Given the description of an element on the screen output the (x, y) to click on. 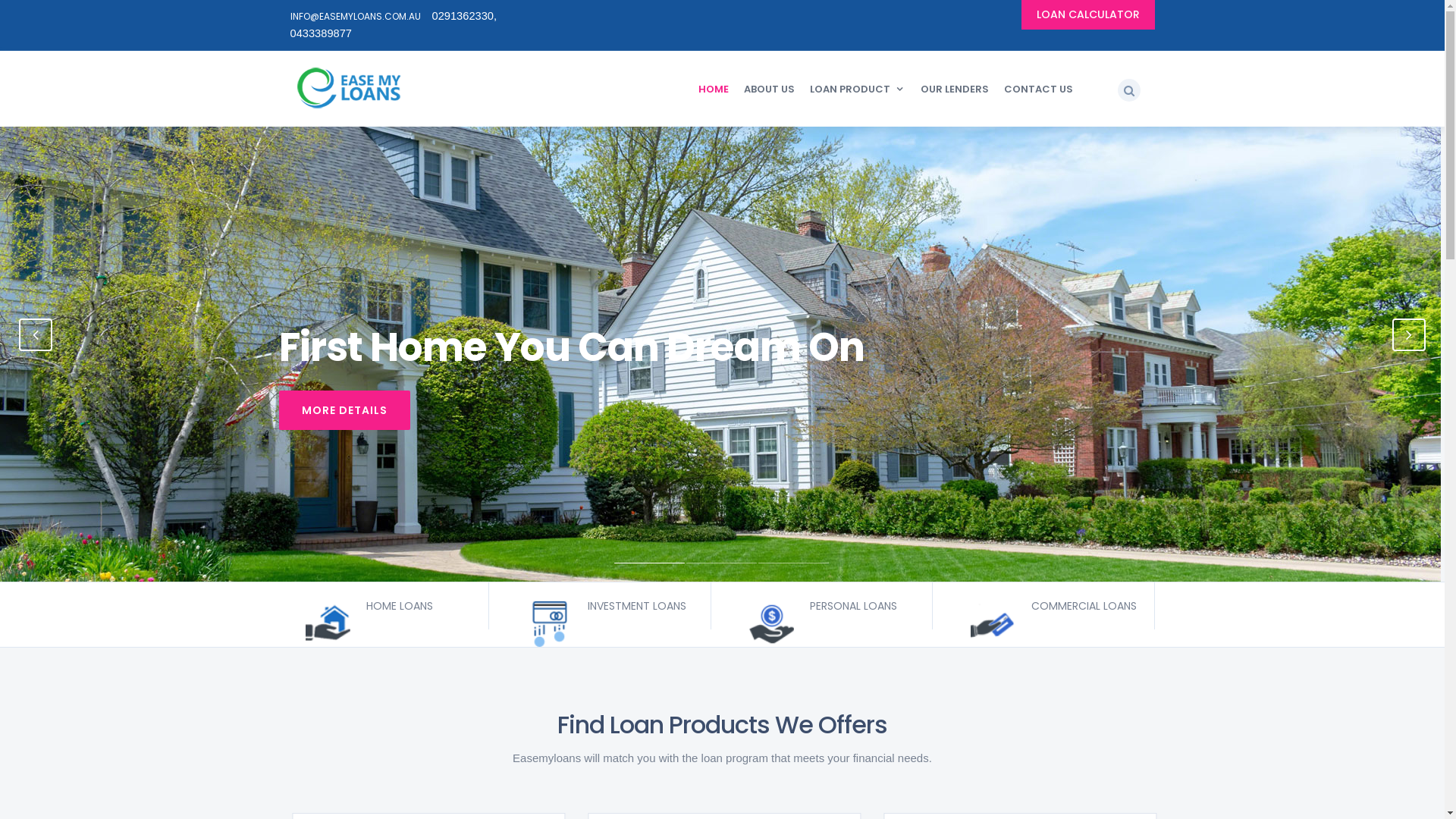
INFO@EASEMYLOANS.COM.AU Element type: text (354, 15)
0291362330 Element type: text (463, 15)
0433389877 Element type: text (320, 33)
LOAN PRODUCT Element type: text (857, 89)
HOME Element type: text (713, 89)
ABOUT US Element type: text (769, 89)
CONTACT US Element type: text (1038, 89)
MORE DETAILS Element type: text (344, 409)
OUR LENDERS Element type: text (954, 89)
